Given the description of an element on the screen output the (x, y) to click on. 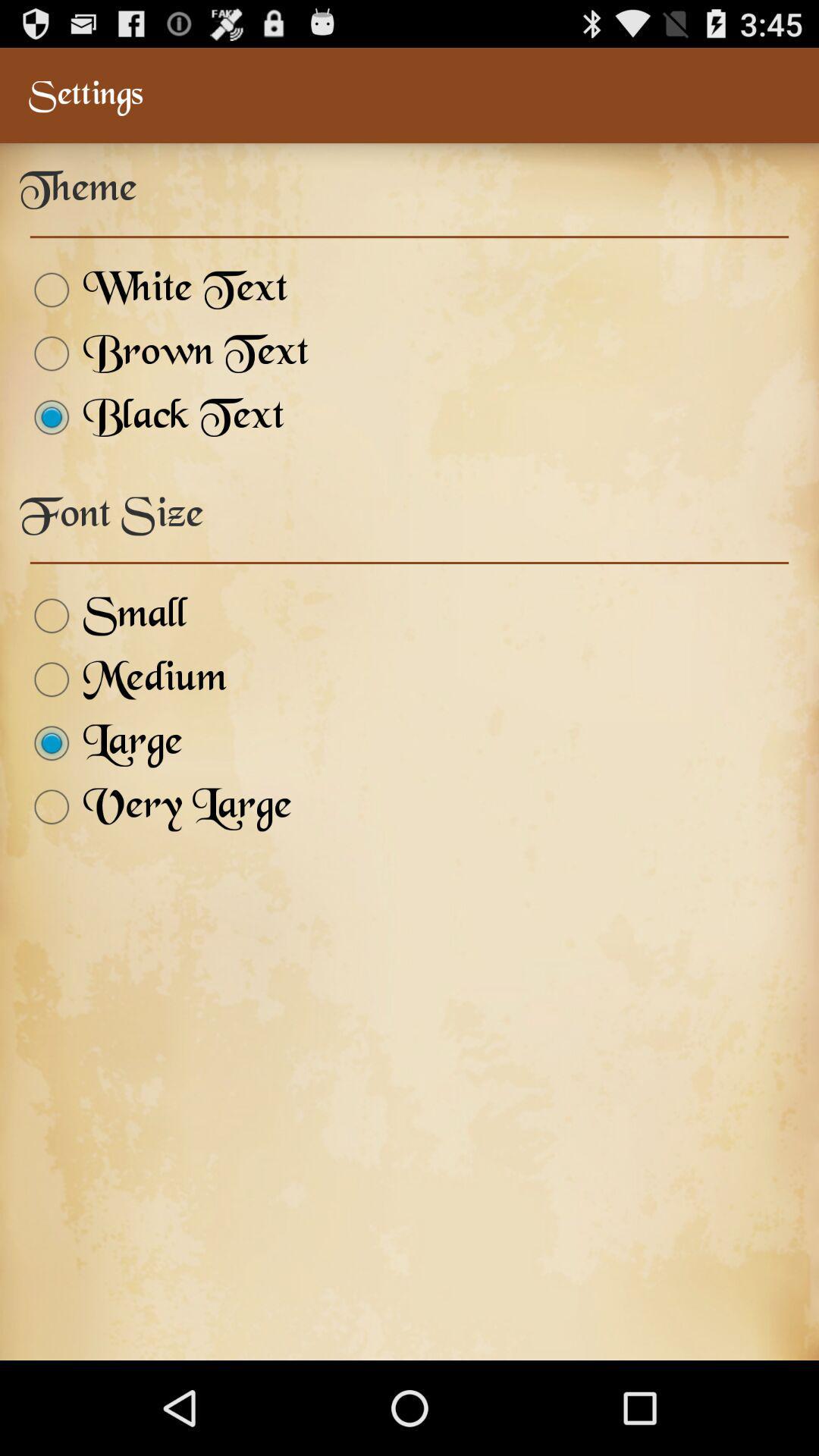
choose small item (103, 615)
